Given the description of an element on the screen output the (x, y) to click on. 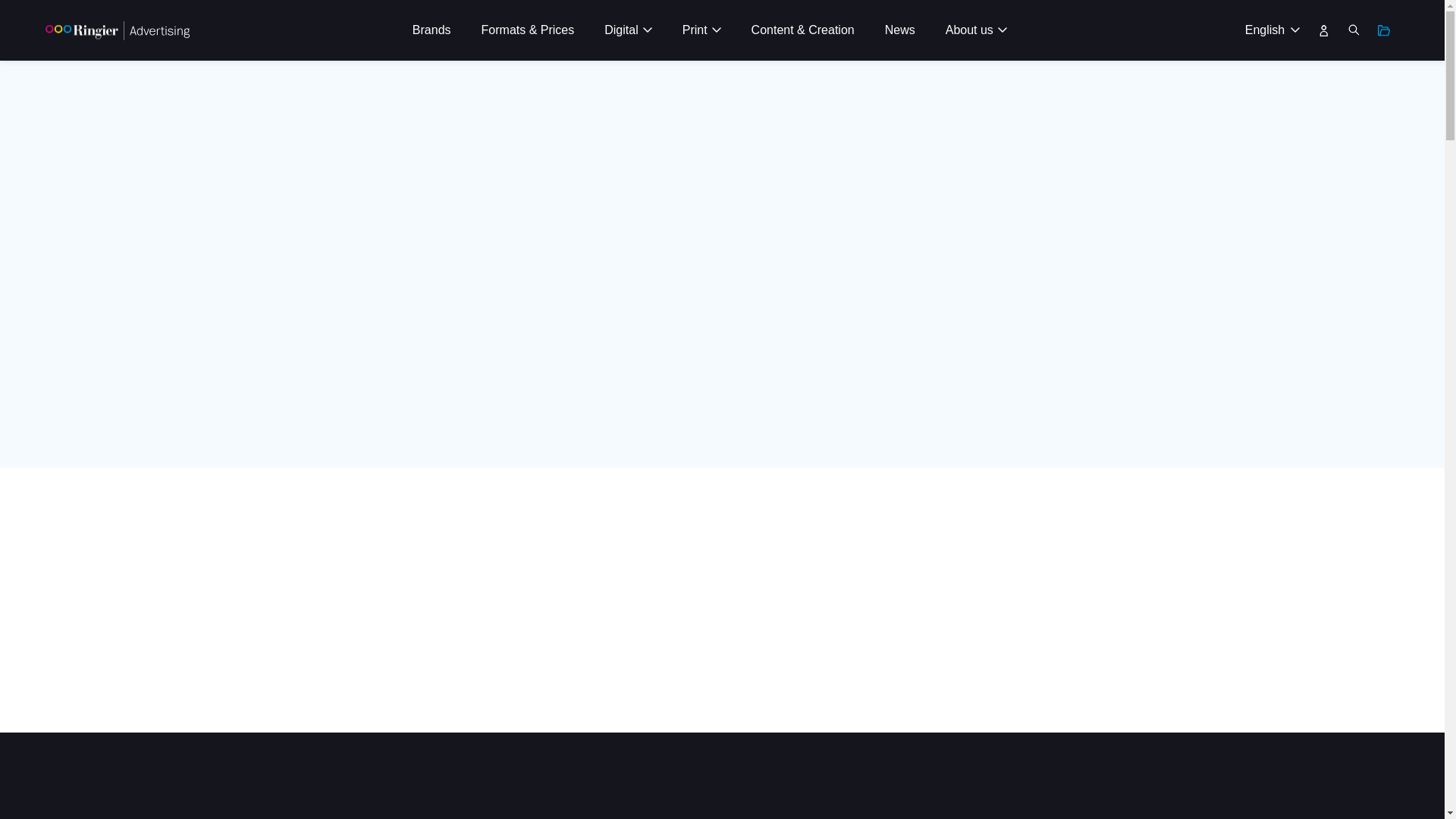
Search (1353, 30)
Digital (627, 30)
Login (1323, 30)
Open watch list (1383, 30)
Go to frontpage (117, 30)
Brands (431, 30)
News (899, 30)
About us (976, 30)
English (1269, 30)
Print (701, 30)
